Given the description of an element on the screen output the (x, y) to click on. 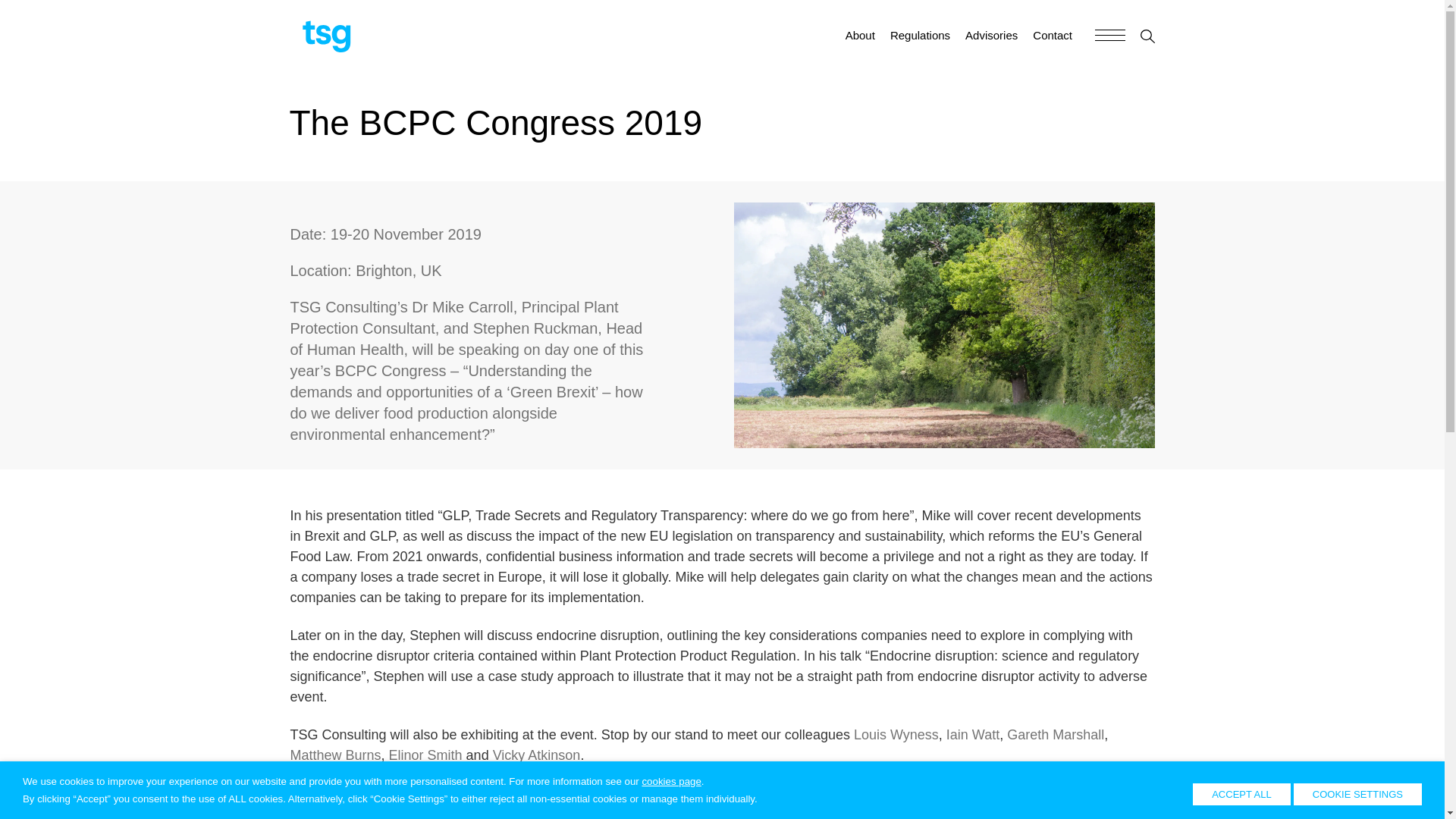
Regulations (919, 34)
Advisories (991, 34)
About (860, 34)
Contact (1051, 34)
